Given the description of an element on the screen output the (x, y) to click on. 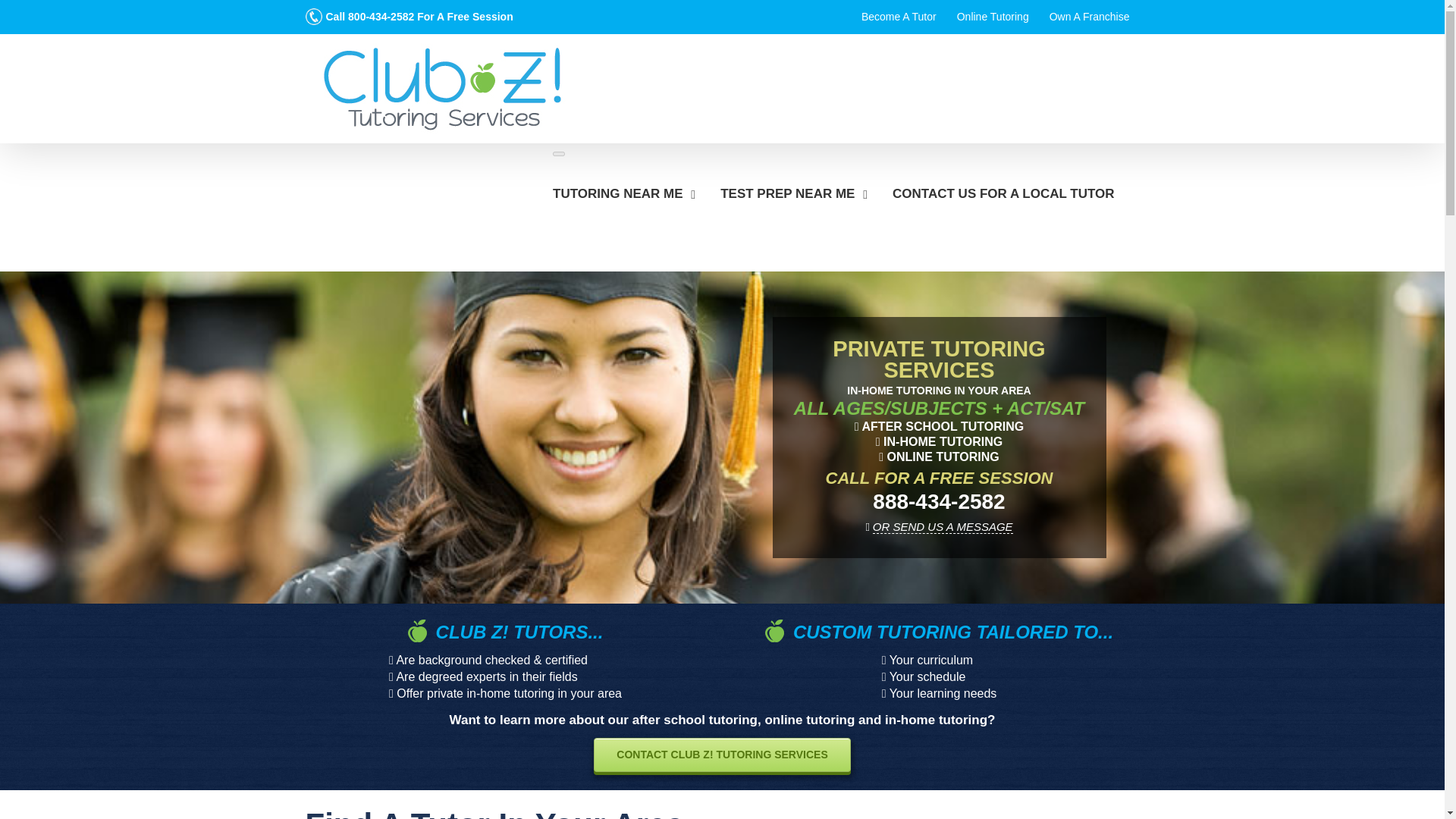
Become A Tutor (898, 16)
Own A Franchise (1089, 16)
Toggle navigation (558, 153)
Online Tutoring (993, 16)
